Given the description of an element on the screen output the (x, y) to click on. 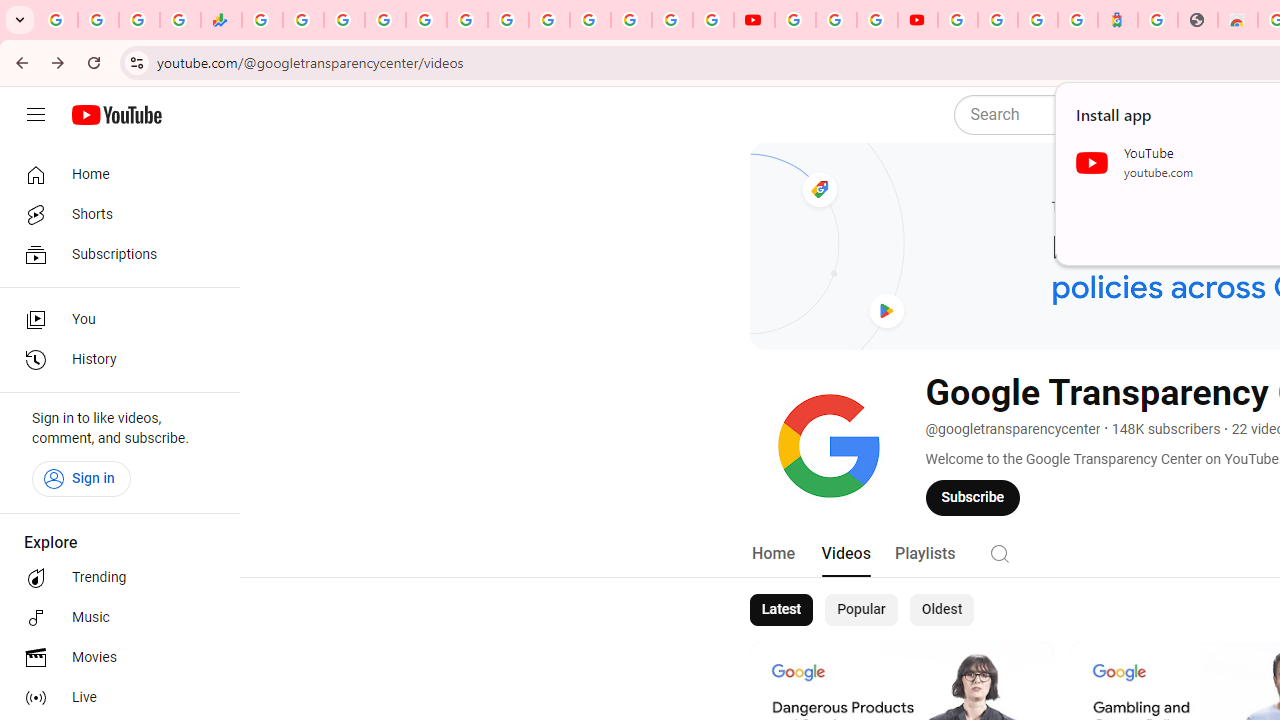
Home (113, 174)
Subscribe (973, 497)
Sign in - Google Accounts (671, 20)
YouTube Home (116, 115)
Chrome Web Store - Household (1238, 20)
Popular (861, 609)
Sign in - Google Accounts (997, 20)
Google Workspace Admin Community (57, 20)
Atour Hotel - Google hotels (1117, 20)
Google Account Help (836, 20)
Music (113, 617)
History (113, 359)
Latest (780, 609)
Home (772, 553)
